Given the description of an element on the screen output the (x, y) to click on. 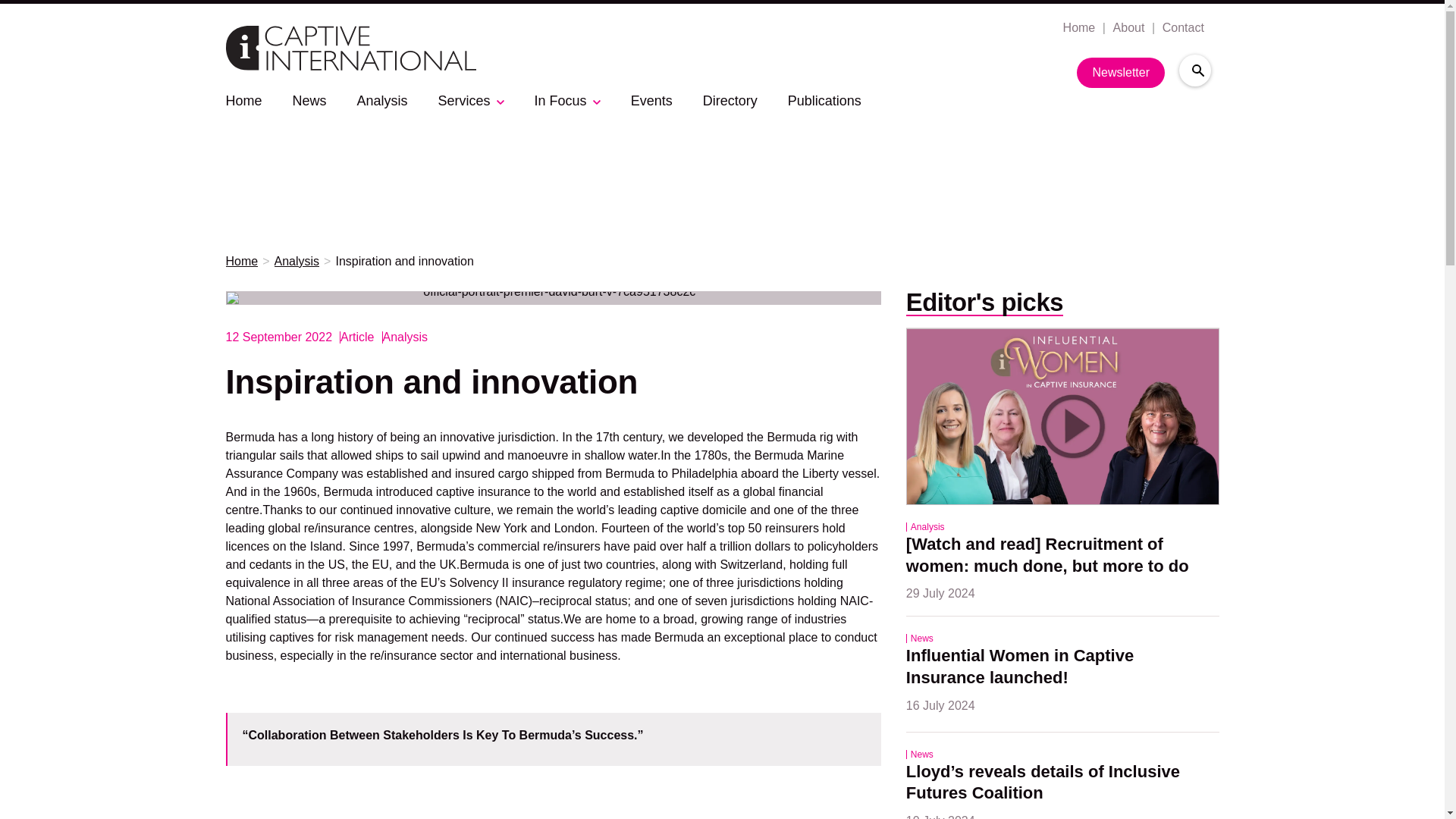
Services (464, 100)
Analysis (381, 100)
Inspiration and innovation (403, 261)
3rd party ad content (722, 165)
About (1126, 28)
In Focus (560, 100)
Home (1078, 28)
Events (651, 100)
Home (243, 100)
News (309, 100)
Newsletter (1120, 72)
Directory (730, 100)
Home (242, 261)
Analysis (297, 261)
Influential Women in Captive Insurance launched! (1021, 667)
